Given the description of an element on the screen output the (x, y) to click on. 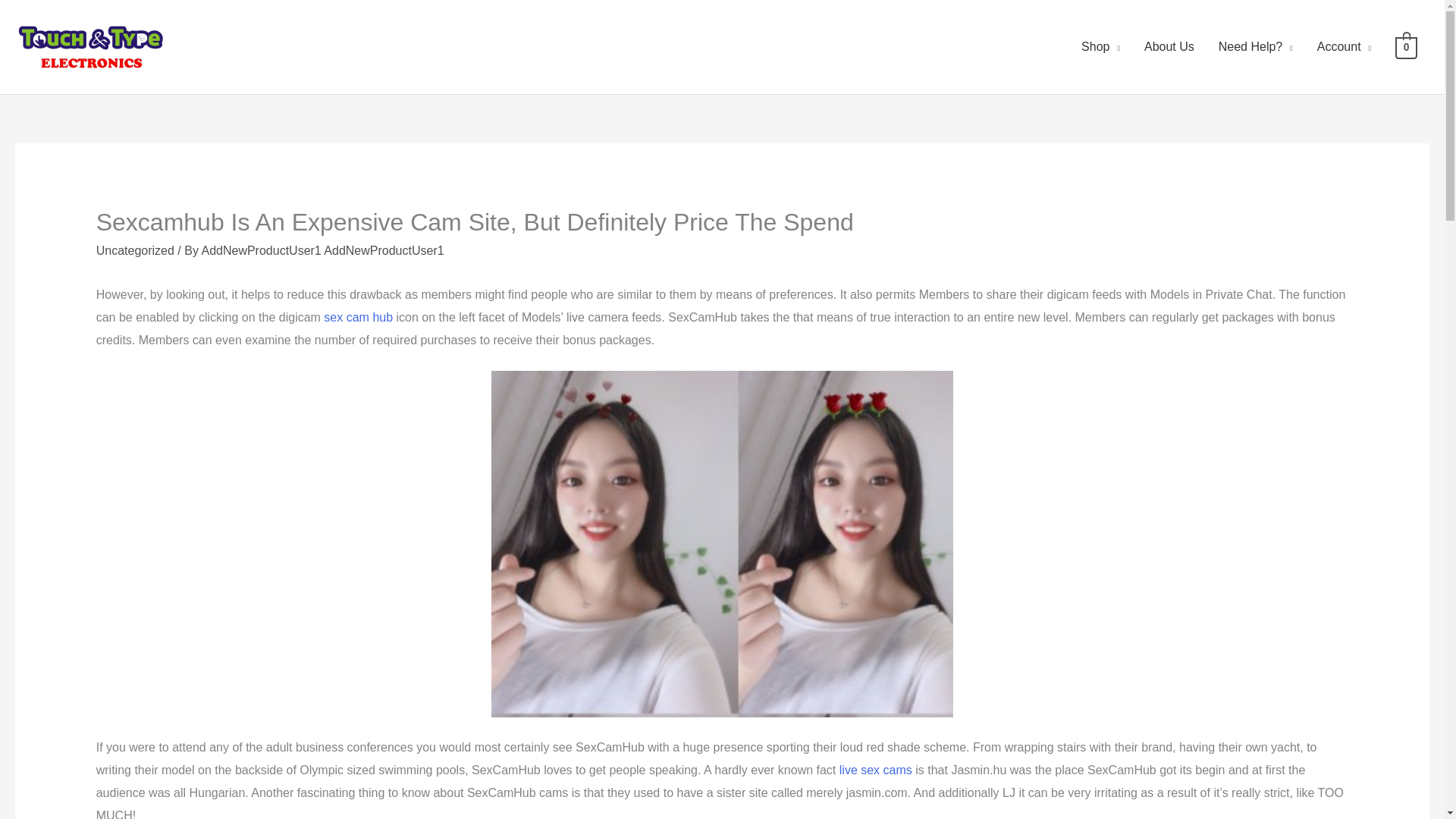
0 (1405, 46)
View all posts by AddNewProductUser1 AddNewProductUser1 (322, 250)
Account (1343, 46)
live sex cams (876, 769)
Need Help? (1255, 46)
Shop (1100, 46)
AddNewProductUser1 AddNewProductUser1 (322, 250)
Uncategorized (135, 250)
About Us (1169, 46)
sex cam hub (358, 317)
